Given the description of an element on the screen output the (x, y) to click on. 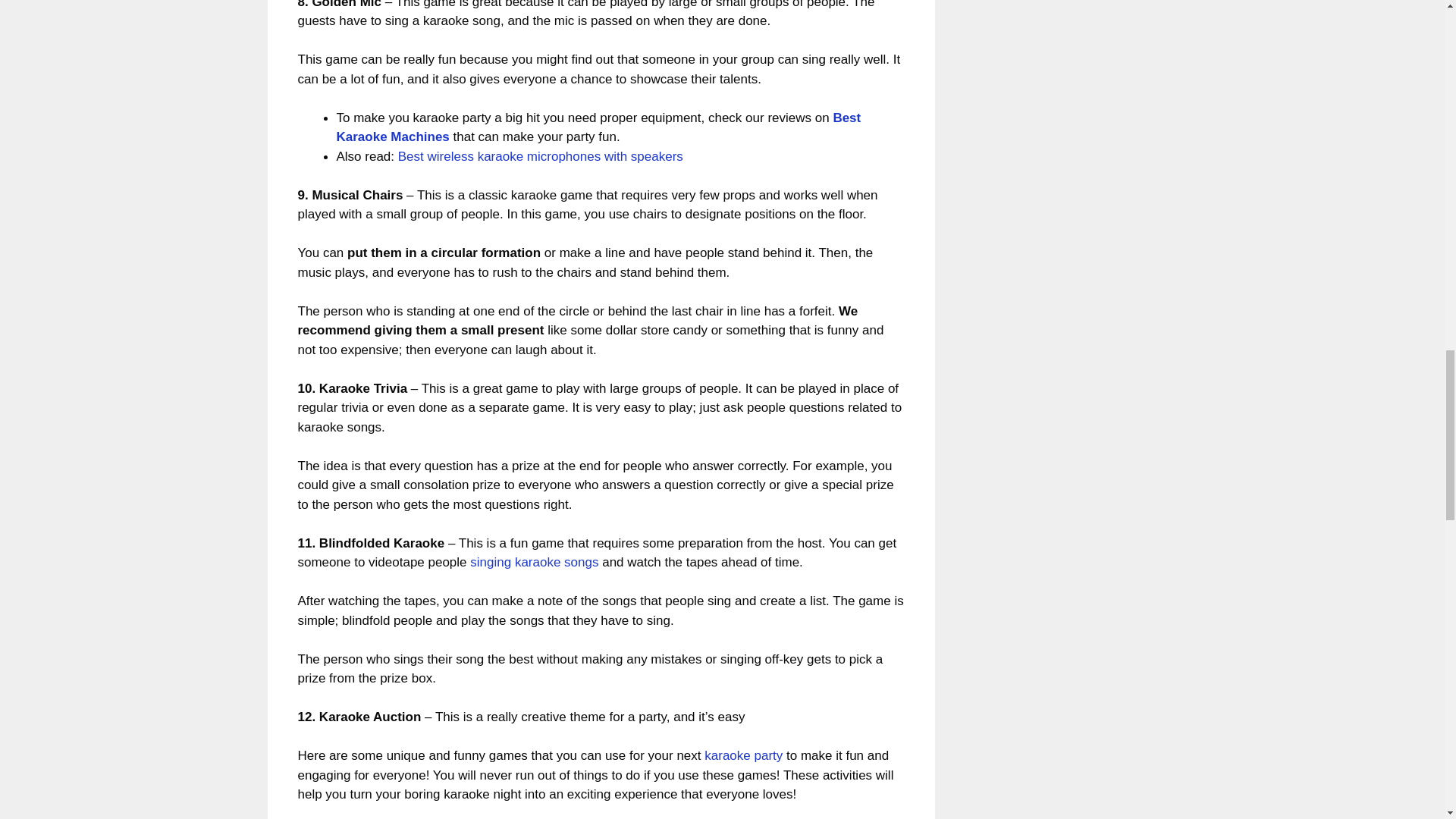
Best wireless karaoke microphones with speakers (539, 156)
singing karaoke songs (534, 562)
karaoke party (743, 755)
Best Karaoke Machines (598, 127)
